Given the description of an element on the screen output the (x, y) to click on. 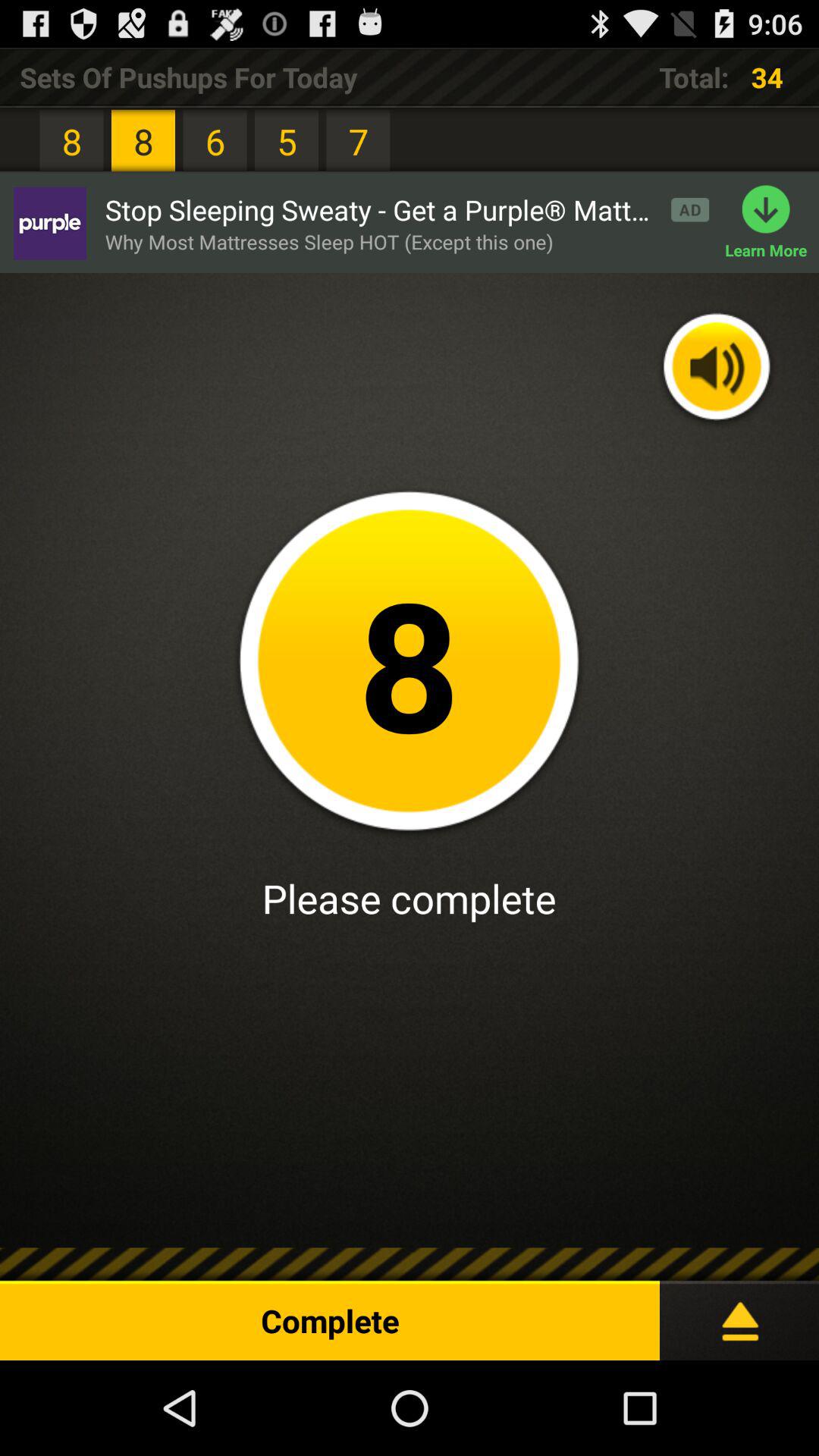
click icon next to the stop sleeping sweaty app (49, 222)
